Given the description of an element on the screen output the (x, y) to click on. 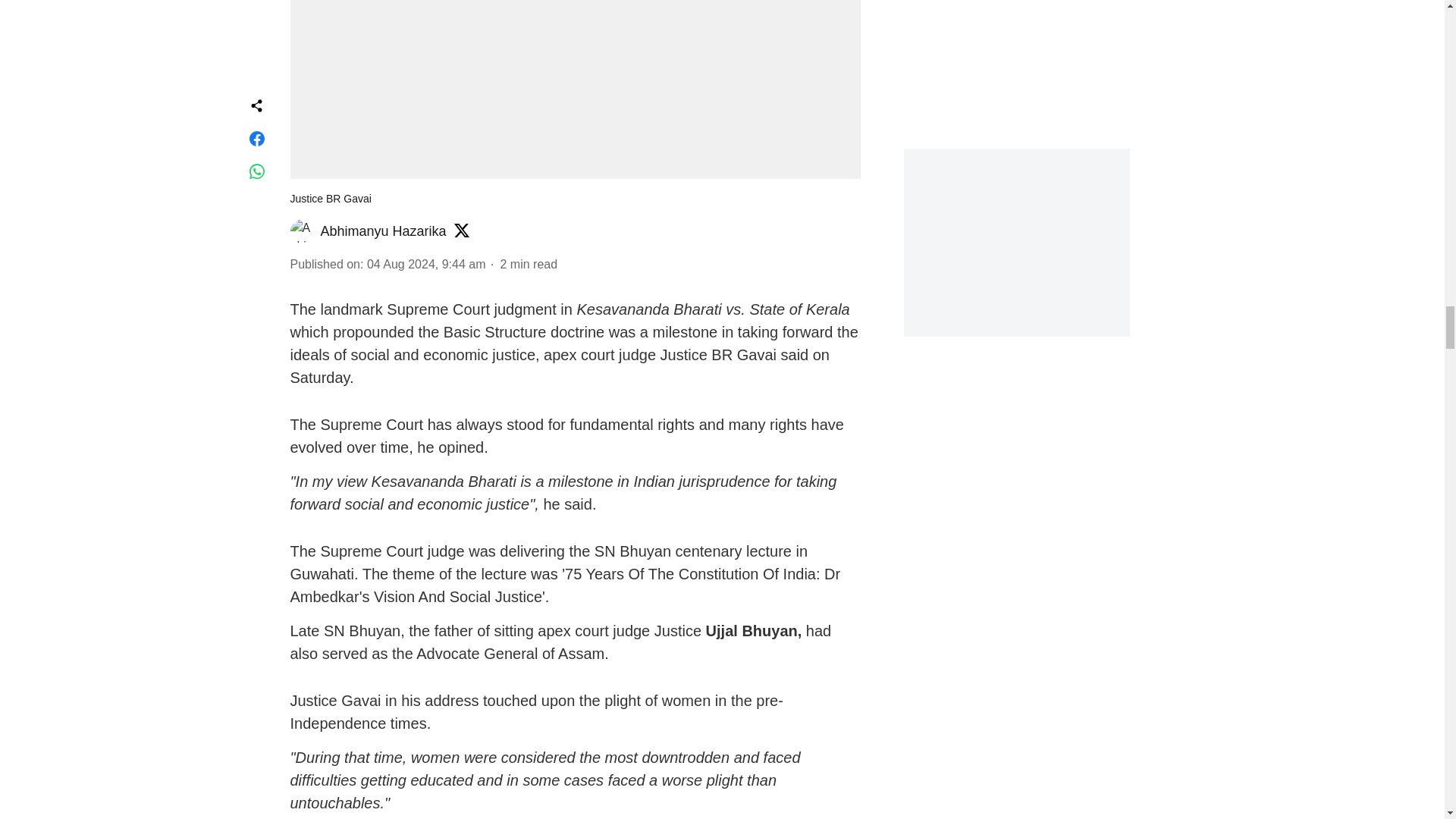
2024-08-04 01:44 (426, 264)
